Given the description of an element on the screen output the (x, y) to click on. 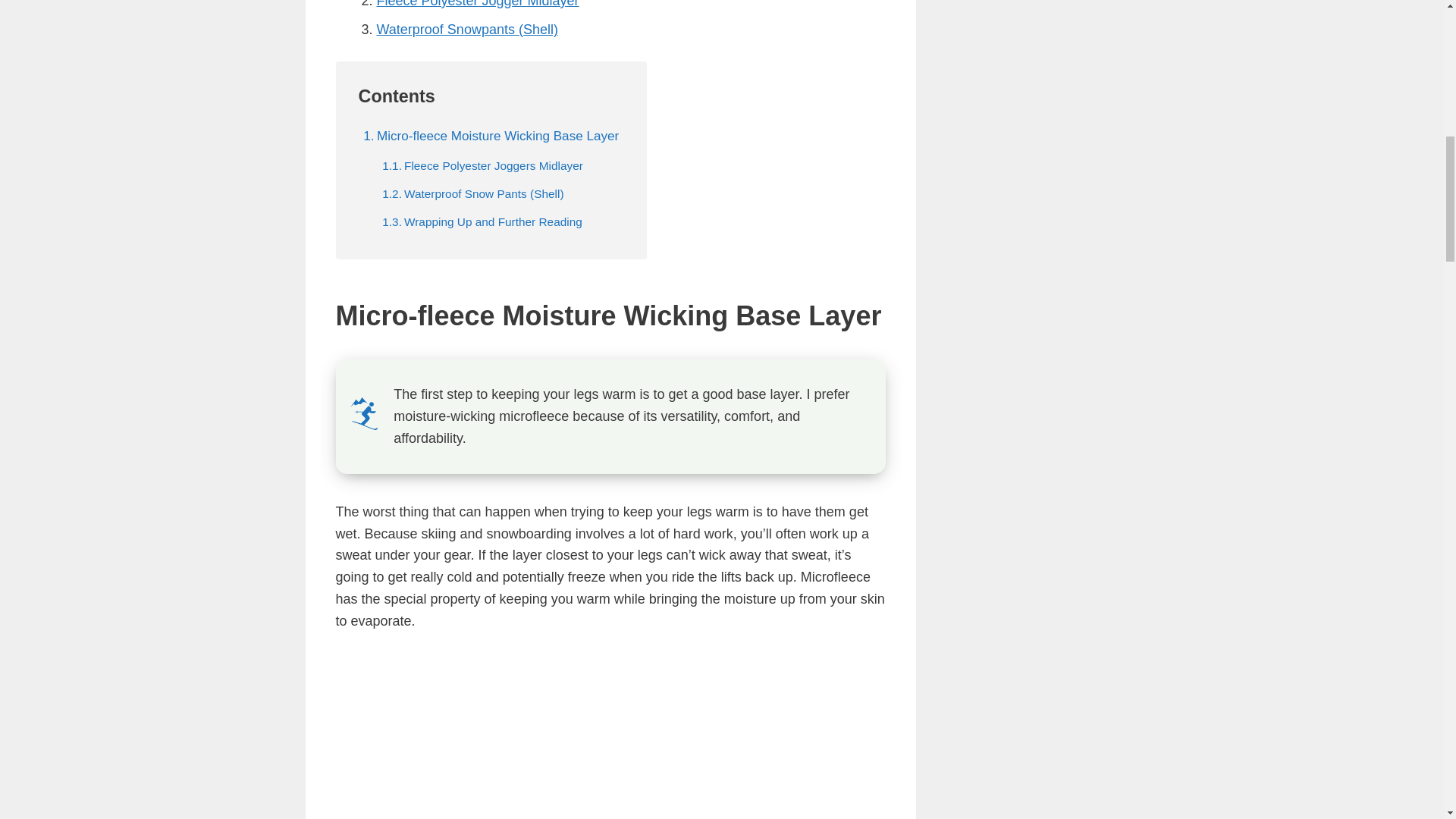
Micro-fleece Moisture Wicking Base Layer (491, 136)
Fleece Polyester Joggers Midlayer (482, 166)
Fleece Polyester Joggers Midlayer (482, 166)
my winterized compression pants on the floor (600, 735)
Micro-fleece Moisture Wicking Base Layer (491, 136)
Wrapping Up and Further Reading (482, 222)
Wrapping Up and Further Reading (482, 222)
Fleece Polyester Jogger Midlayer (476, 4)
